Given the description of an element on the screen output the (x, y) to click on. 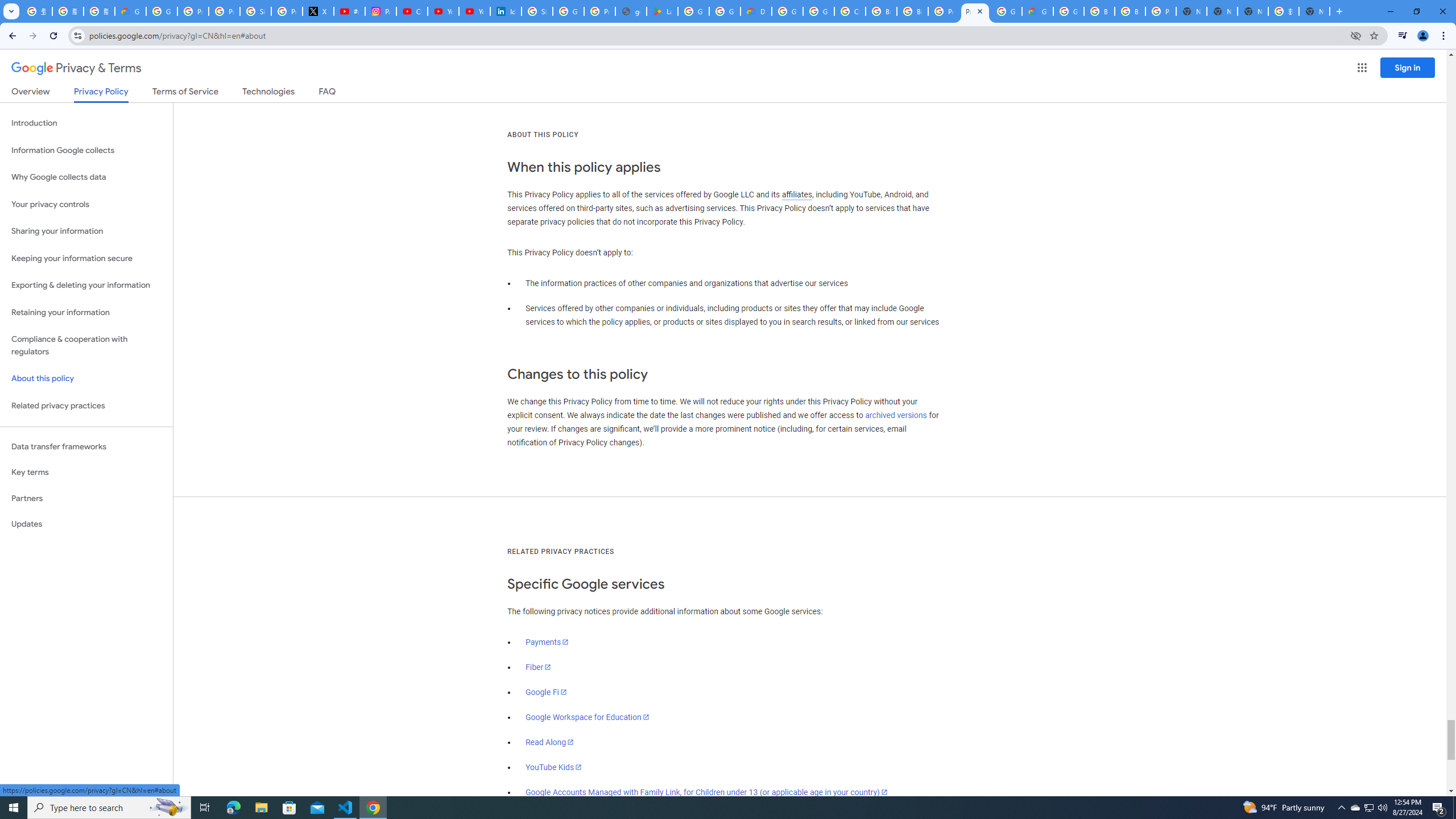
Fiber (538, 666)
Browse Chrome as a guest - Computer - Google Chrome Help (1098, 11)
YouTube Kids (553, 767)
YouTube Culture & Trends - YouTube Top 10, 2021 (474, 11)
google_privacy_policy_en.pdf (631, 11)
Sign in - Google Accounts (255, 11)
Exporting & deleting your information (86, 284)
Google Cloud Platform (1005, 11)
Keeping your information secure (86, 258)
